Given the description of an element on the screen output the (x, y) to click on. 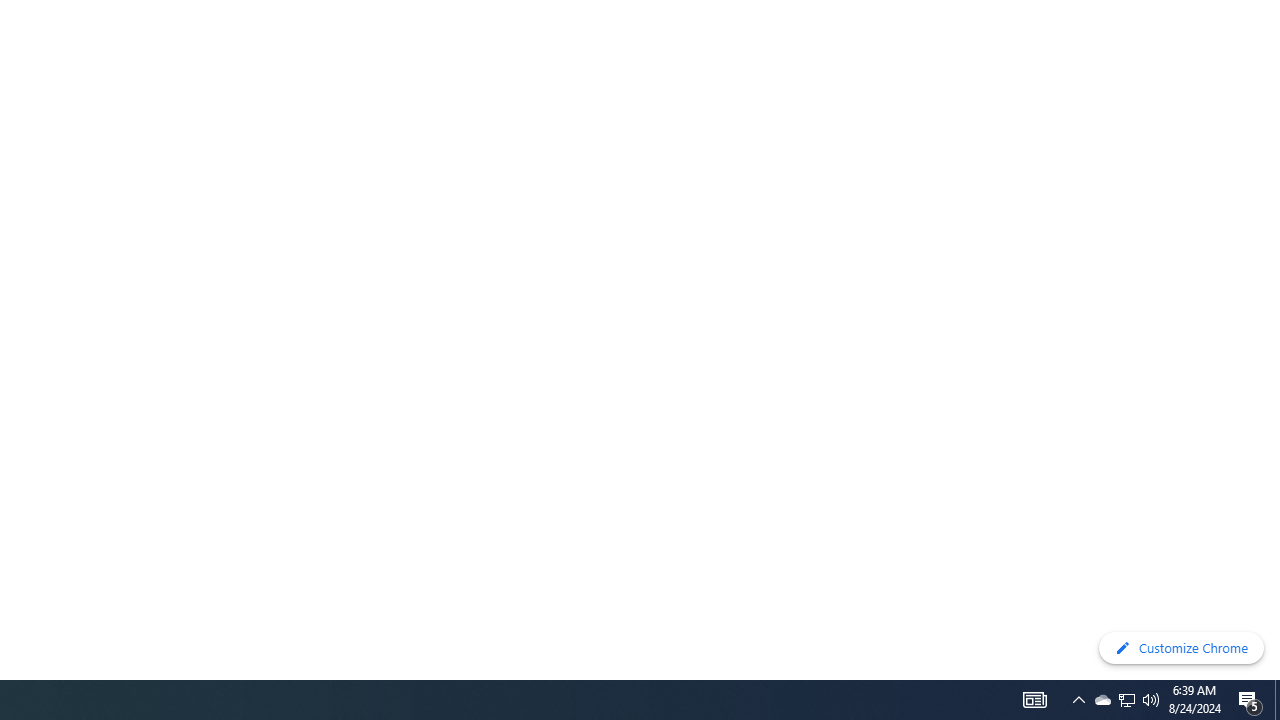
Customize Chrome (1181, 647)
